Given the description of an element on the screen output the (x, y) to click on. 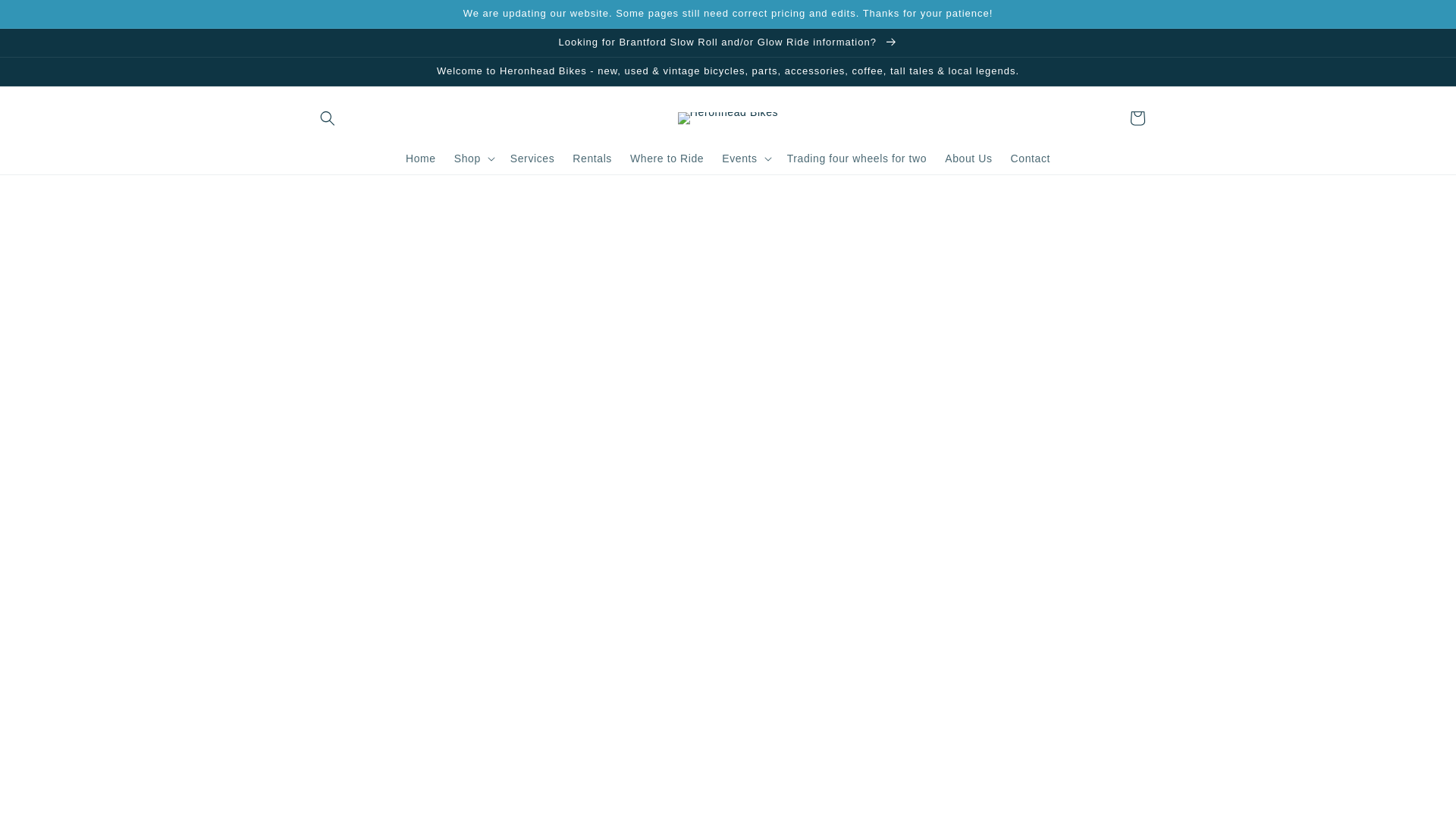
Home (420, 158)
Skip to content (45, 17)
